Given the description of an element on the screen output the (x, y) to click on. 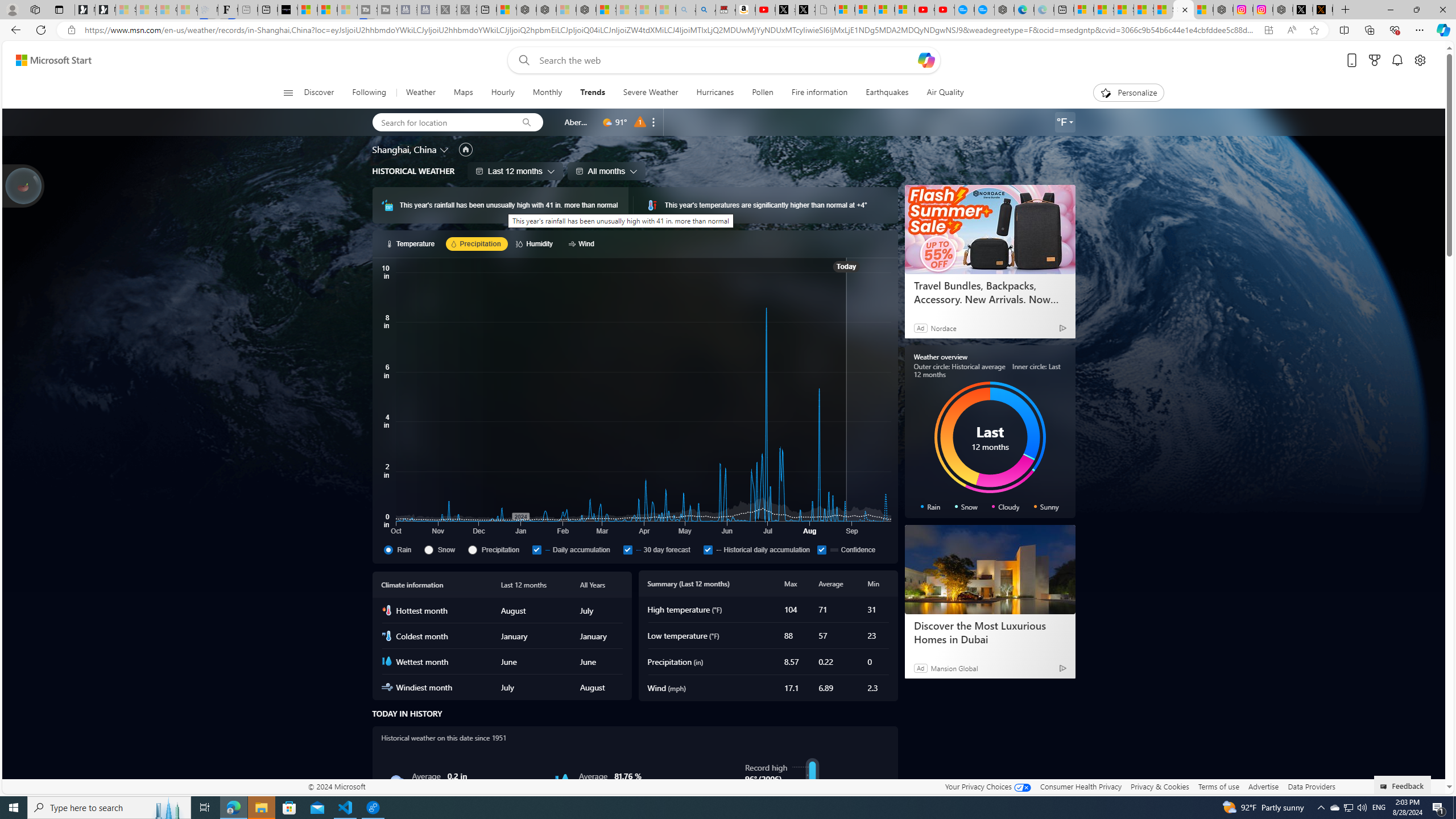
Weather settings (1064, 122)
Aberdeen (576, 121)
Data Providers (1311, 786)
Search for location (440, 122)
Consumer Health Privacy (1080, 786)
Class: button-glyph (287, 92)
Maps (462, 92)
Severe Weather (649, 92)
